Given the description of an element on the screen output the (x, y) to click on. 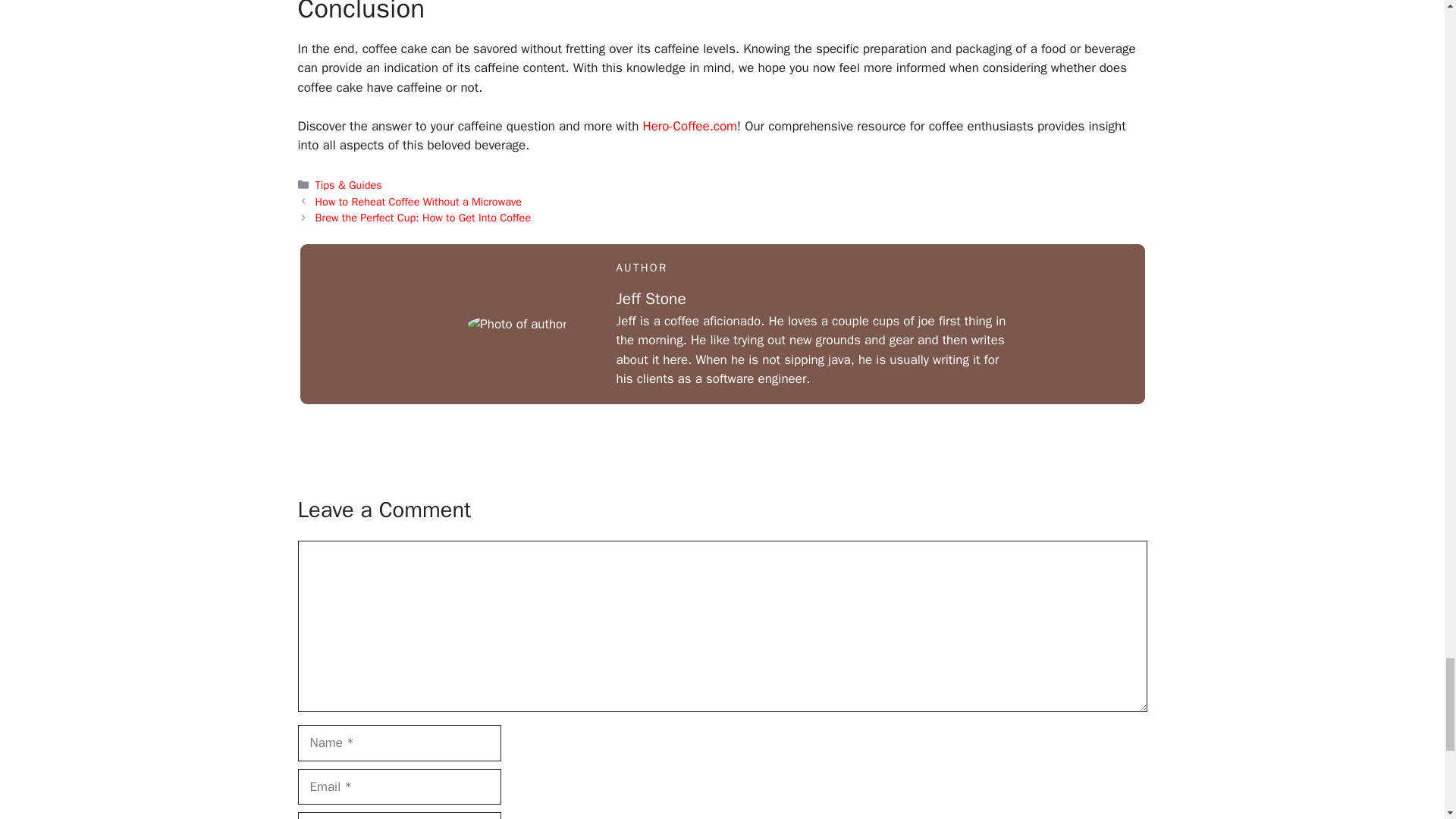
Hero-Coffee.com (689, 125)
How to Reheat Coffee Without a Microwave (418, 201)
Brew the Perfect Cup: How to Get Into Coffee (423, 217)
